Given the description of an element on the screen output the (x, y) to click on. 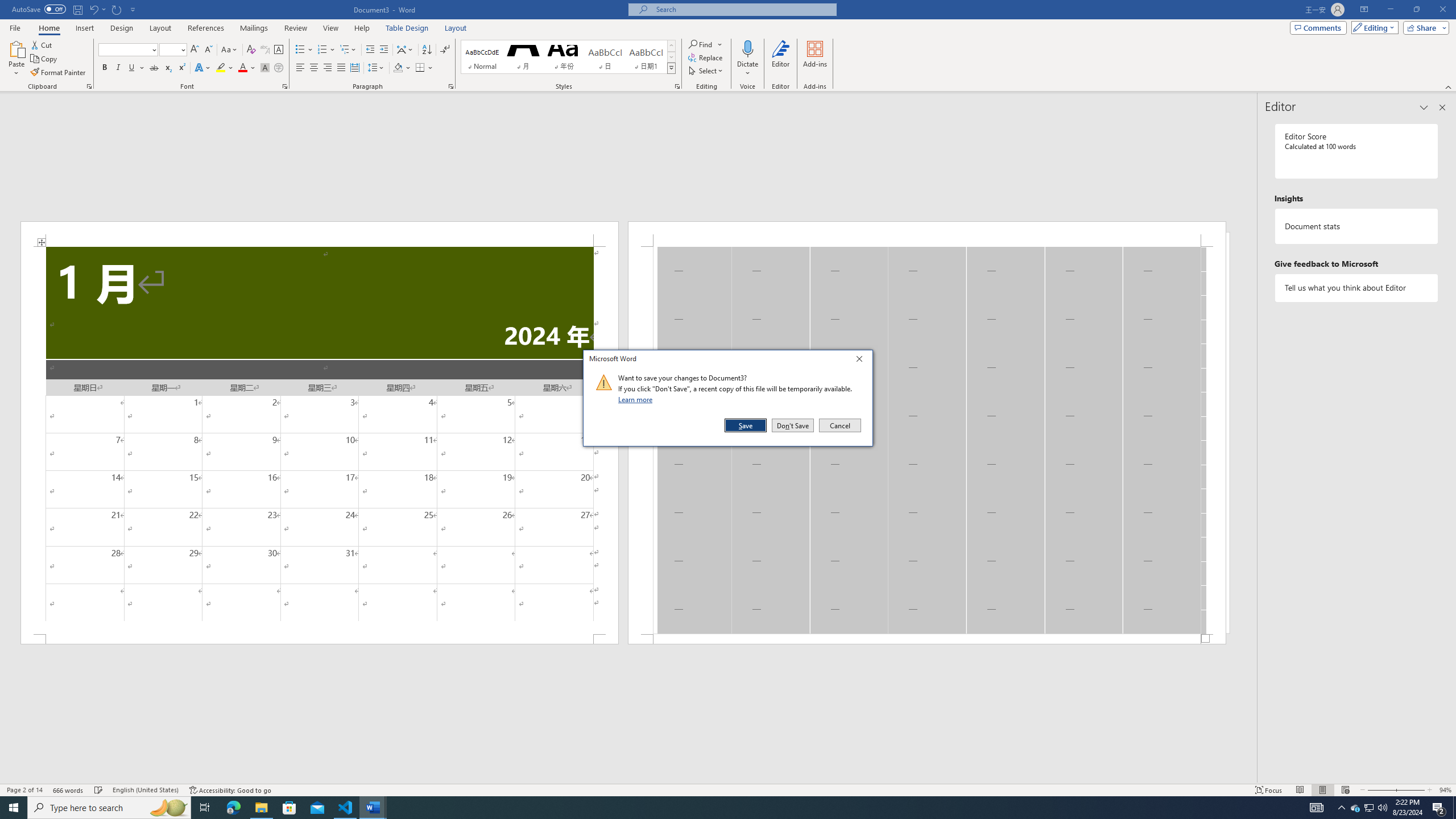
Header -Section 1- (926, 233)
Show/Hide Editing Marks (444, 49)
Microsoft Store (289, 807)
AutomationID: 4105 (1316, 807)
AutoSave (38, 9)
Undo Apply Quick Style (96, 9)
Enclose Characters... (278, 67)
Review (295, 28)
Footer -Section 1- (926, 638)
Accessibility Checker Accessibility: Good to go (230, 790)
Shading RGB(0, 0, 0) (397, 67)
Center (313, 67)
User Promoted Notification Area (1368, 807)
